Given the description of an element on the screen output the (x, y) to click on. 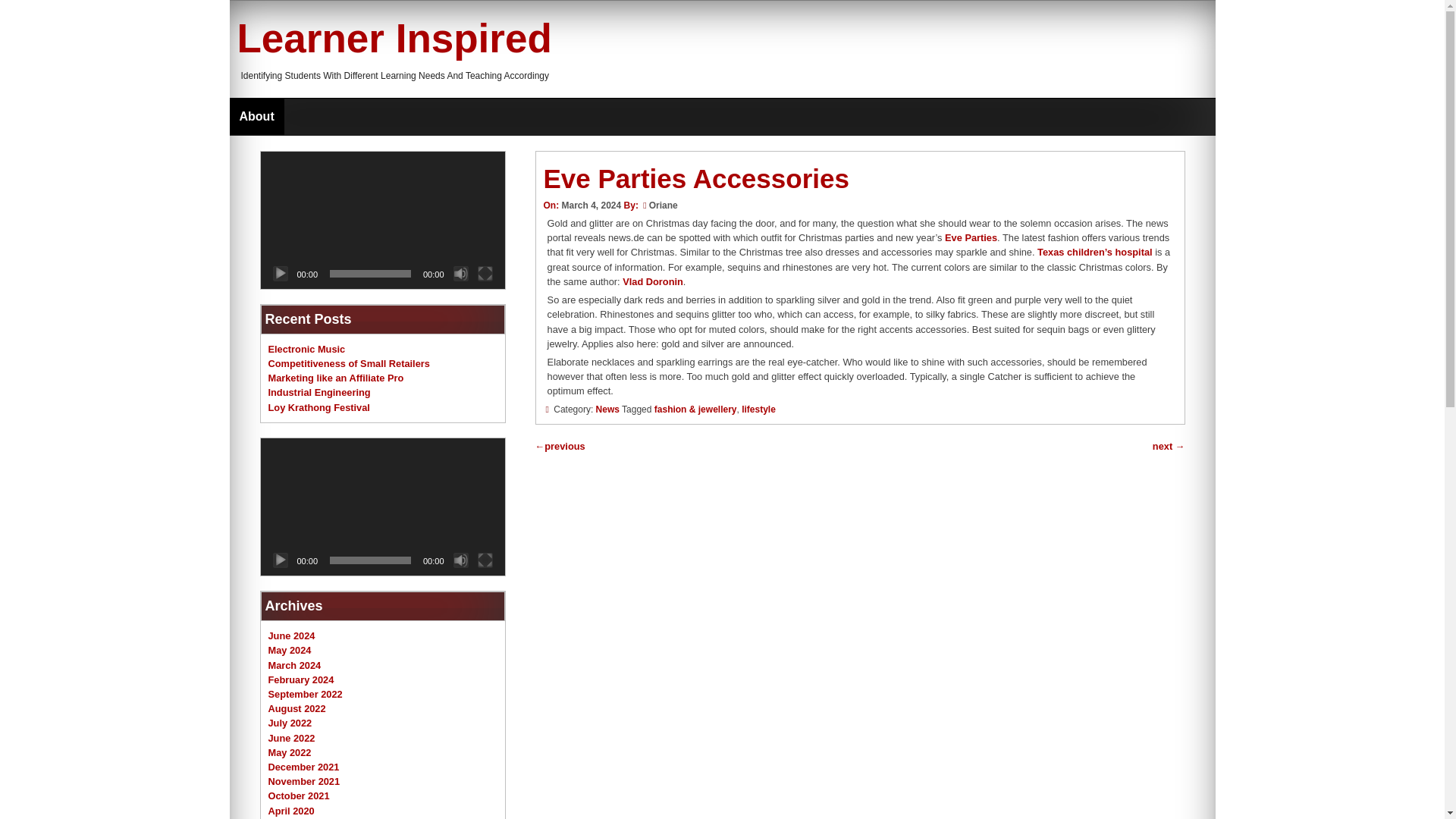
August 2022 (296, 708)
Play (280, 273)
September 2022 (304, 694)
Electronic Music (306, 348)
November 2021 (303, 781)
Oriane (663, 204)
Mute (460, 560)
May 2022 (289, 752)
Play (280, 560)
Eve Parties (970, 237)
June 2024 (291, 635)
March 2024 (294, 665)
Mute (460, 273)
March 4, 2024 (590, 204)
Marketing like an Affiliate Pro (335, 378)
